Given the description of an element on the screen output the (x, y) to click on. 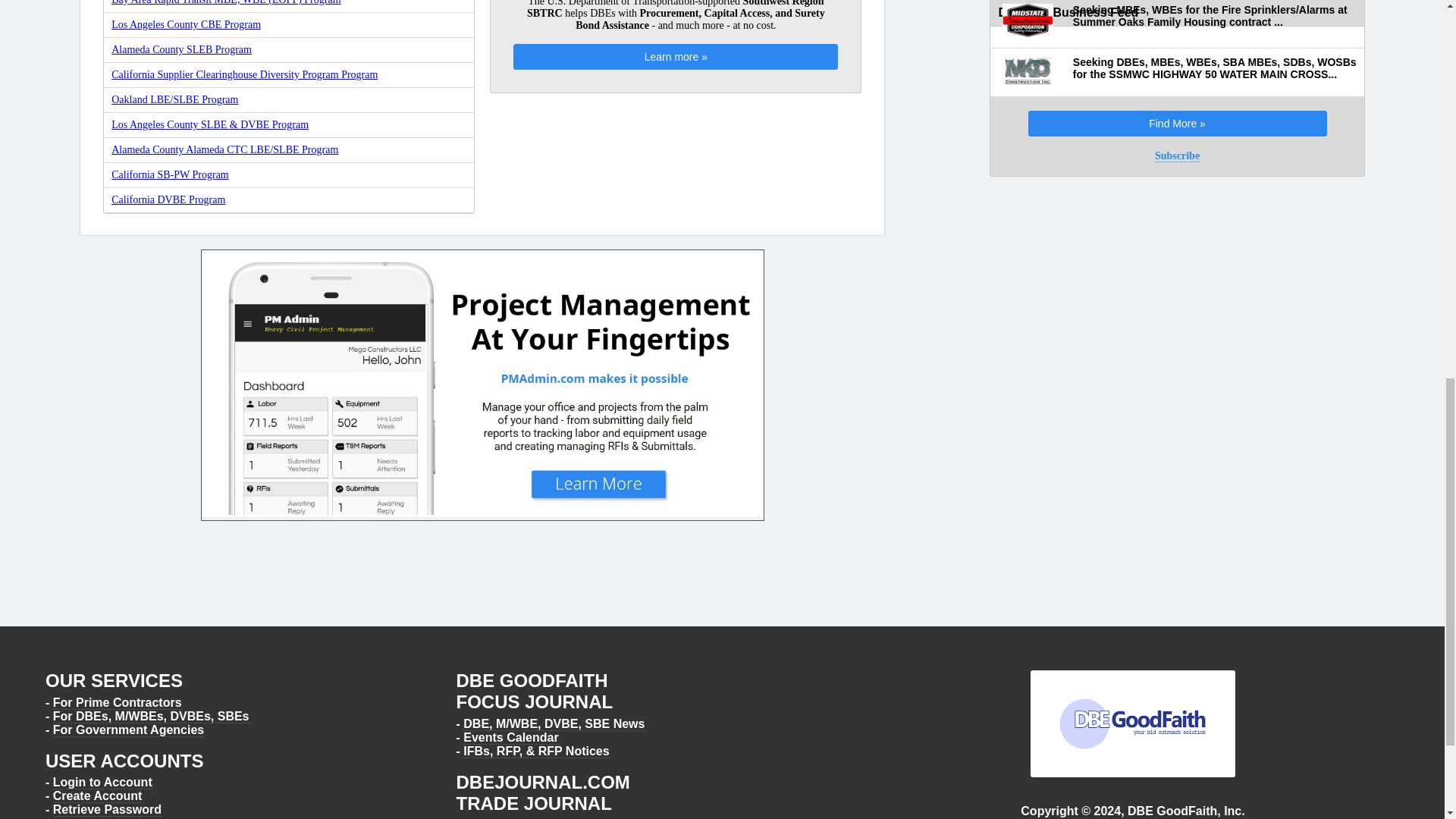
DBEGoodFaith.com (1132, 723)
